Given the description of an element on the screen output the (x, y) to click on. 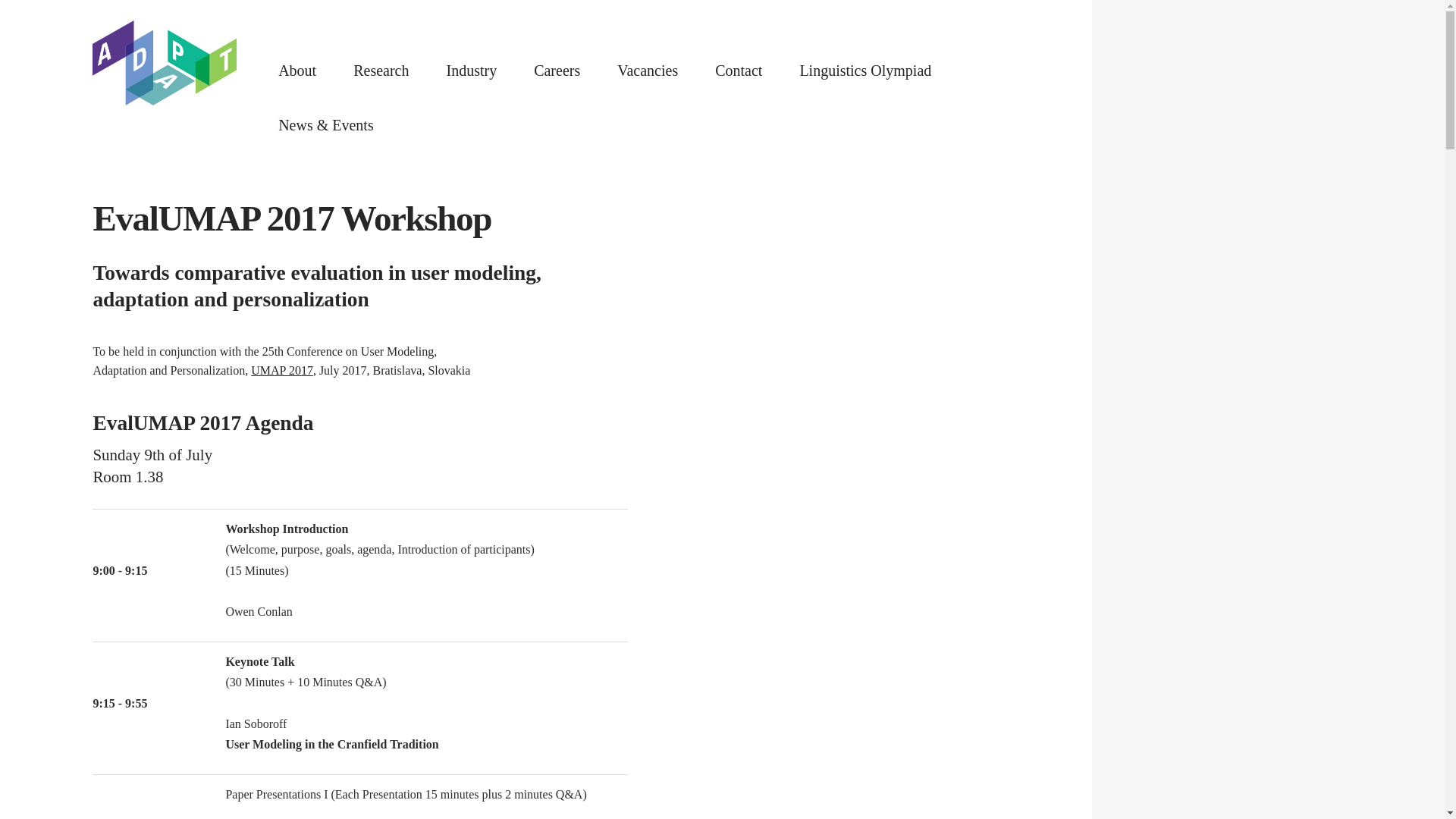
Contact (737, 68)
Vacancies (647, 68)
Linguistics Olympiad (865, 69)
Industry (470, 67)
Careers (556, 67)
UMAP 2017 (281, 369)
About (296, 66)
Research (381, 66)
